Given the description of an element on the screen output the (x, y) to click on. 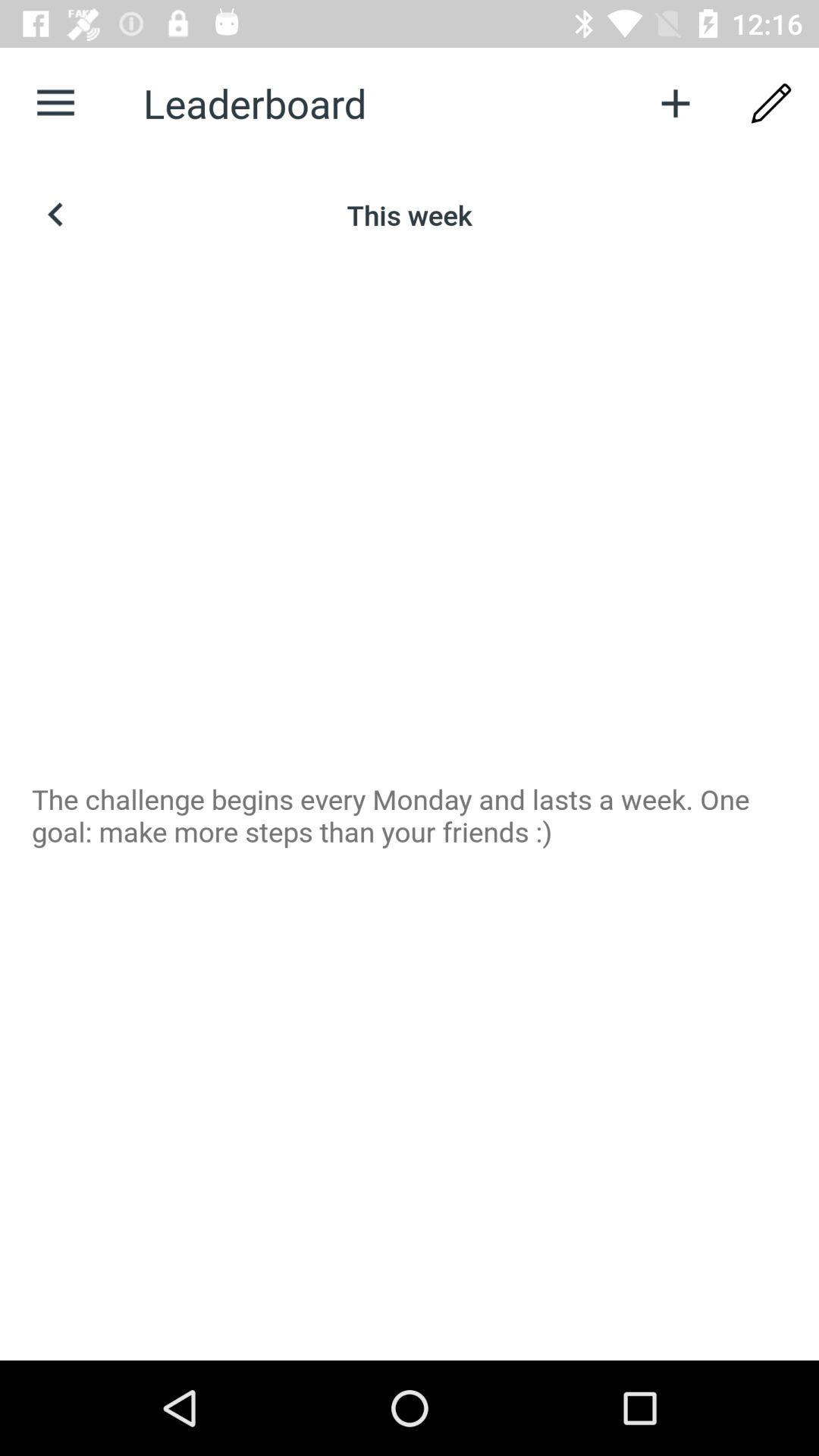
go back (55, 214)
